Given the description of an element on the screen output the (x, y) to click on. 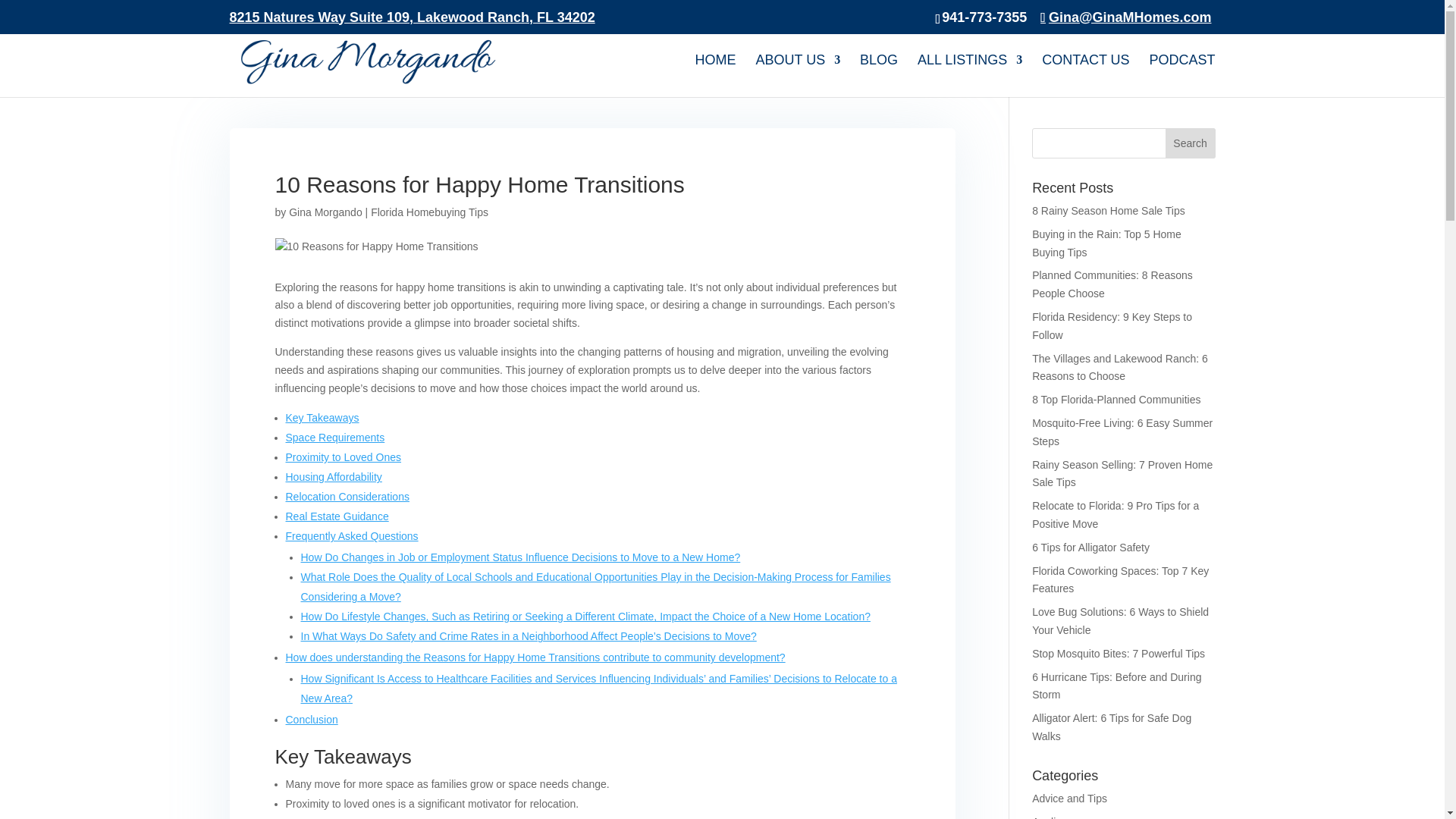
Space Requirements (334, 437)
Key Takeaways (321, 417)
BLOG (879, 75)
Posts by Gina Morgando (325, 212)
PODCAST (1181, 75)
ALL LISTINGS (969, 75)
8215 Natures Way Suite 109, Lakewood Ranch, FL 34202 (411, 22)
Housing Affordability (333, 476)
Florida Homebuying Tips (429, 212)
ABOUT US (797, 75)
Search (1190, 142)
